Given the description of an element on the screen output the (x, y) to click on. 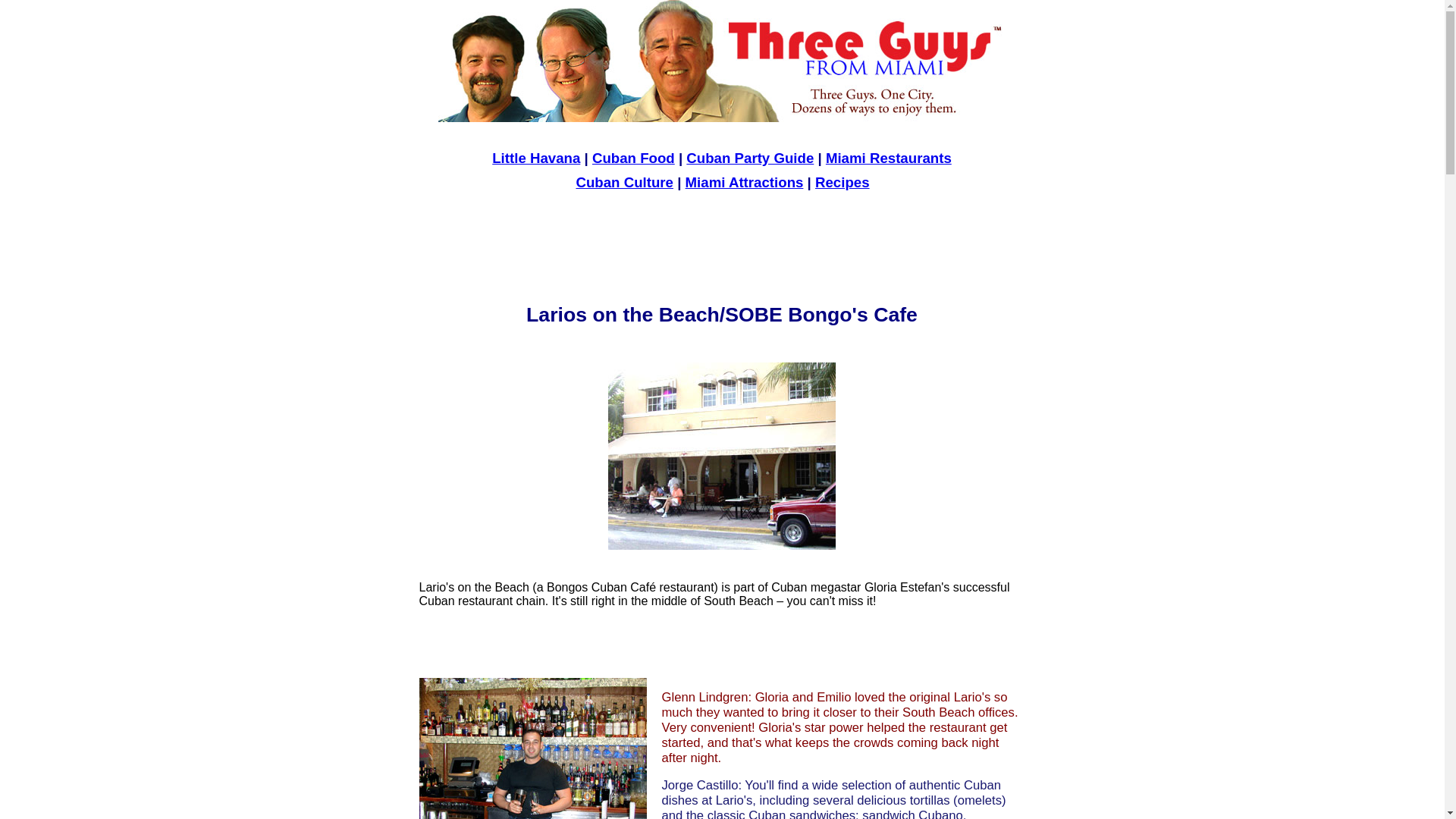
Recipes Element type: text (842, 182)
Advertisement Element type: hover (721, 247)
Cuban Food Element type: text (633, 158)
Little Havana Element type: text (536, 158)
Miami Attractions Element type: text (744, 182)
Miami Restaurants Element type: text (888, 158)
Cuban Culture Element type: text (624, 182)
Cuban Party Guide Element type: text (749, 158)
